Given the description of an element on the screen output the (x, y) to click on. 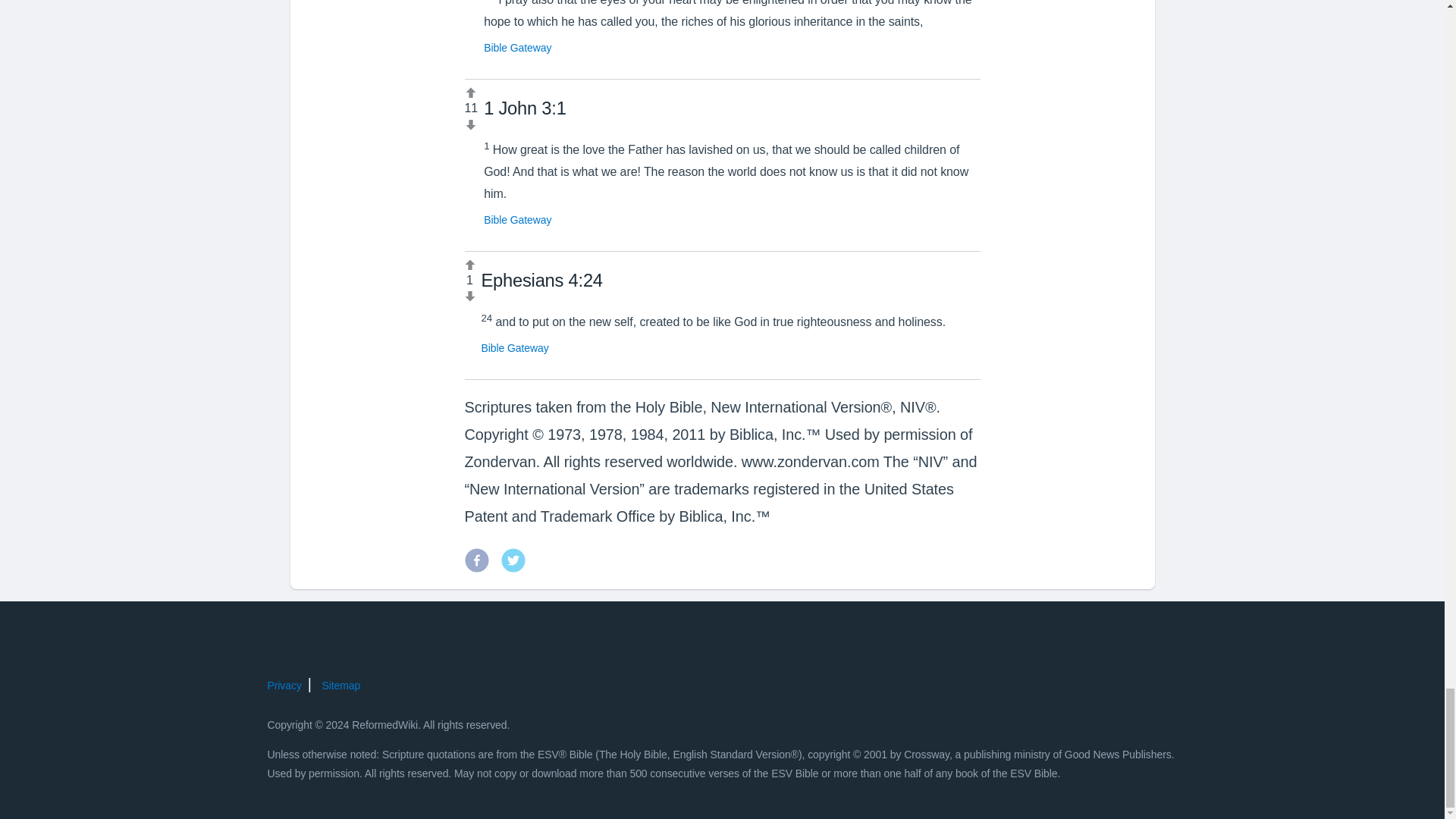
Bible Gateway (517, 47)
Bible Gateway (517, 219)
Bible Gateway (514, 347)
